Given the description of an element on the screen output the (x, y) to click on. 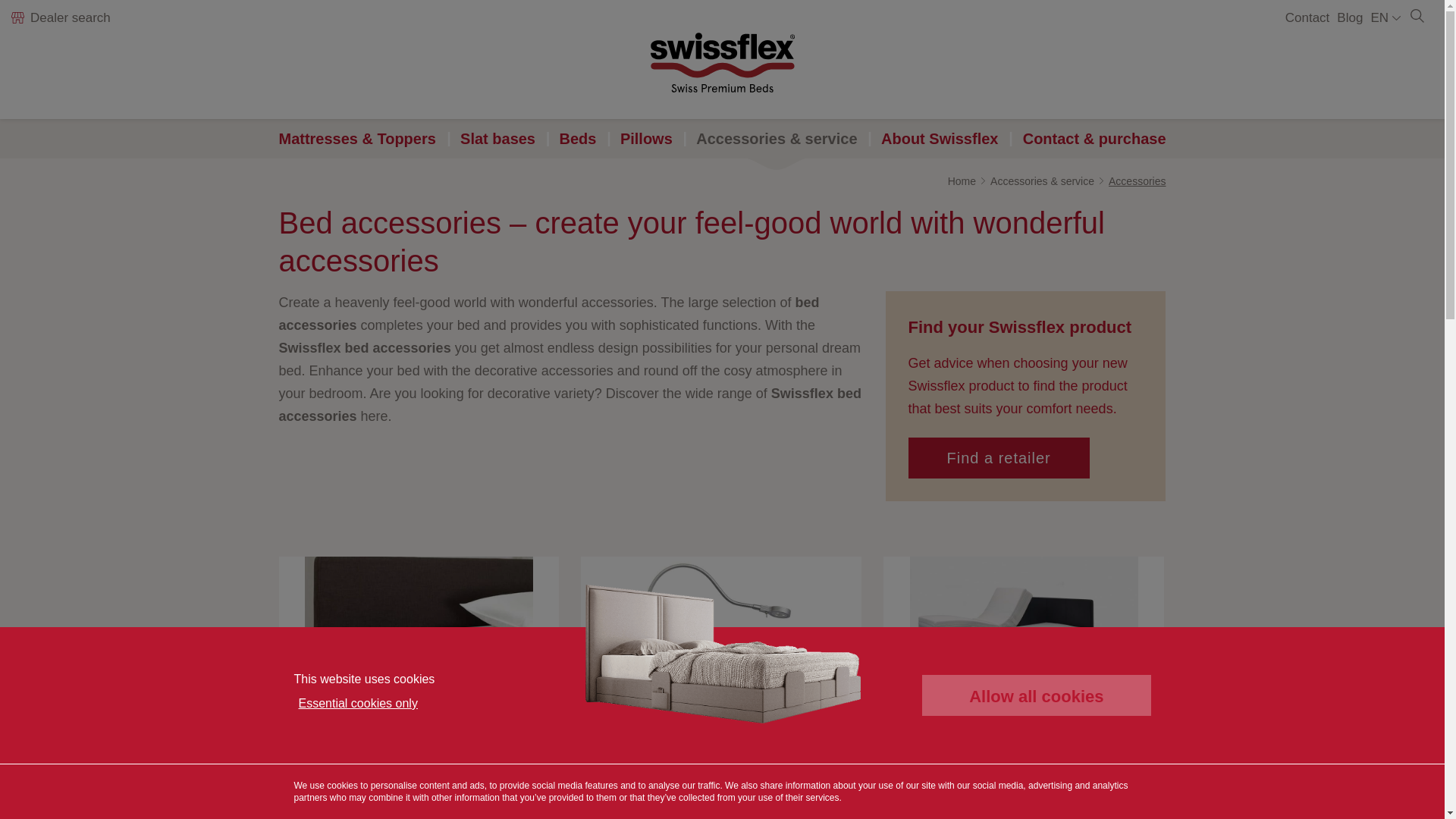
Beds (577, 138)
Pillows (646, 138)
Essential cookies only (358, 703)
Allow all cookies (1035, 694)
Slat bases (497, 138)
